Given the description of an element on the screen output the (x, y) to click on. 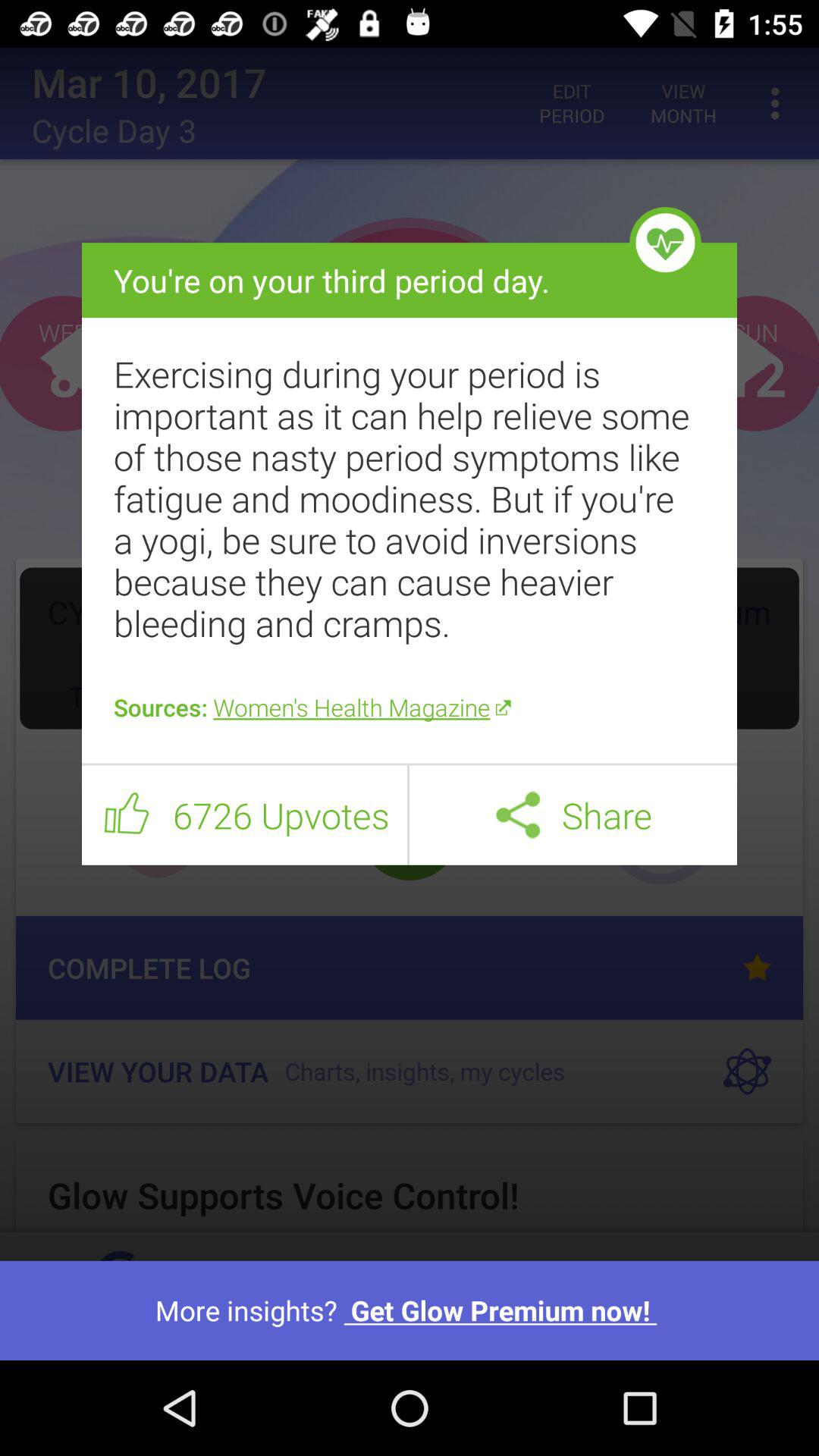
launch the icon above the exercising during your icon (665, 242)
